Given the description of an element on the screen output the (x, y) to click on. 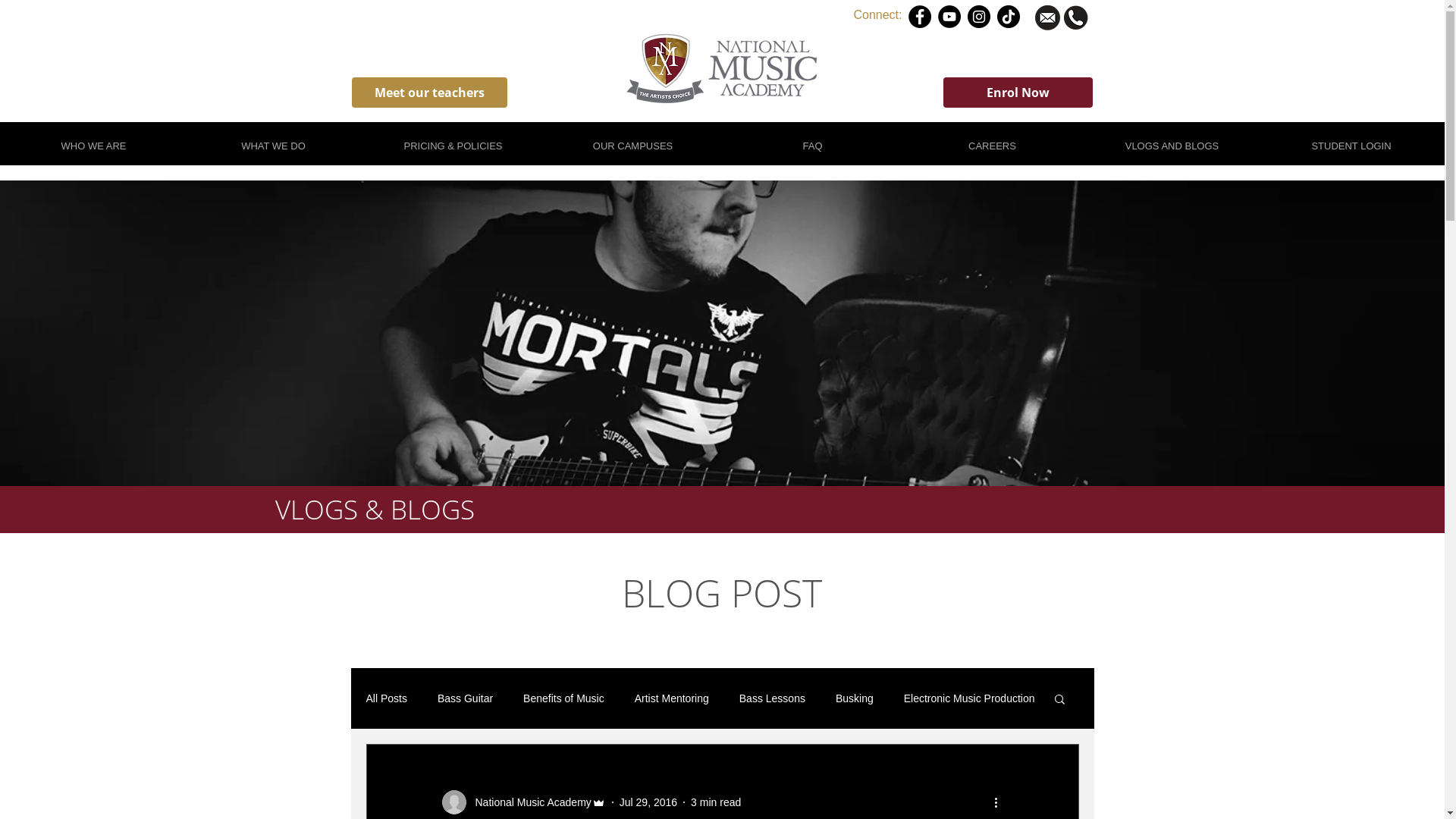
FAQ Element type: text (812, 139)
Enrol Now Element type: text (1017, 92)
Meet our teachers Element type: text (429, 92)
STUDENT LOGIN Element type: text (1350, 139)
Bass Guitar Element type: text (464, 698)
WHO WE ARE Element type: text (93, 139)
WHAT WE DO Element type: text (273, 139)
OUR CAMPUSES Element type: text (632, 139)
VLOGS AND BLOGS Element type: text (1171, 139)
CAREERS Element type: text (992, 139)
Bass Lessons Element type: text (772, 698)
Benefits of Music Element type: text (563, 698)
Artist Mentoring Element type: text (671, 698)
PRICING & POLICIES Element type: text (452, 139)
National Music Academy Element type: text (523, 802)
Electronic Music Production Element type: text (969, 698)
Busking Element type: text (854, 698)
All Posts Element type: text (385, 698)
